Given the description of an element on the screen output the (x, y) to click on. 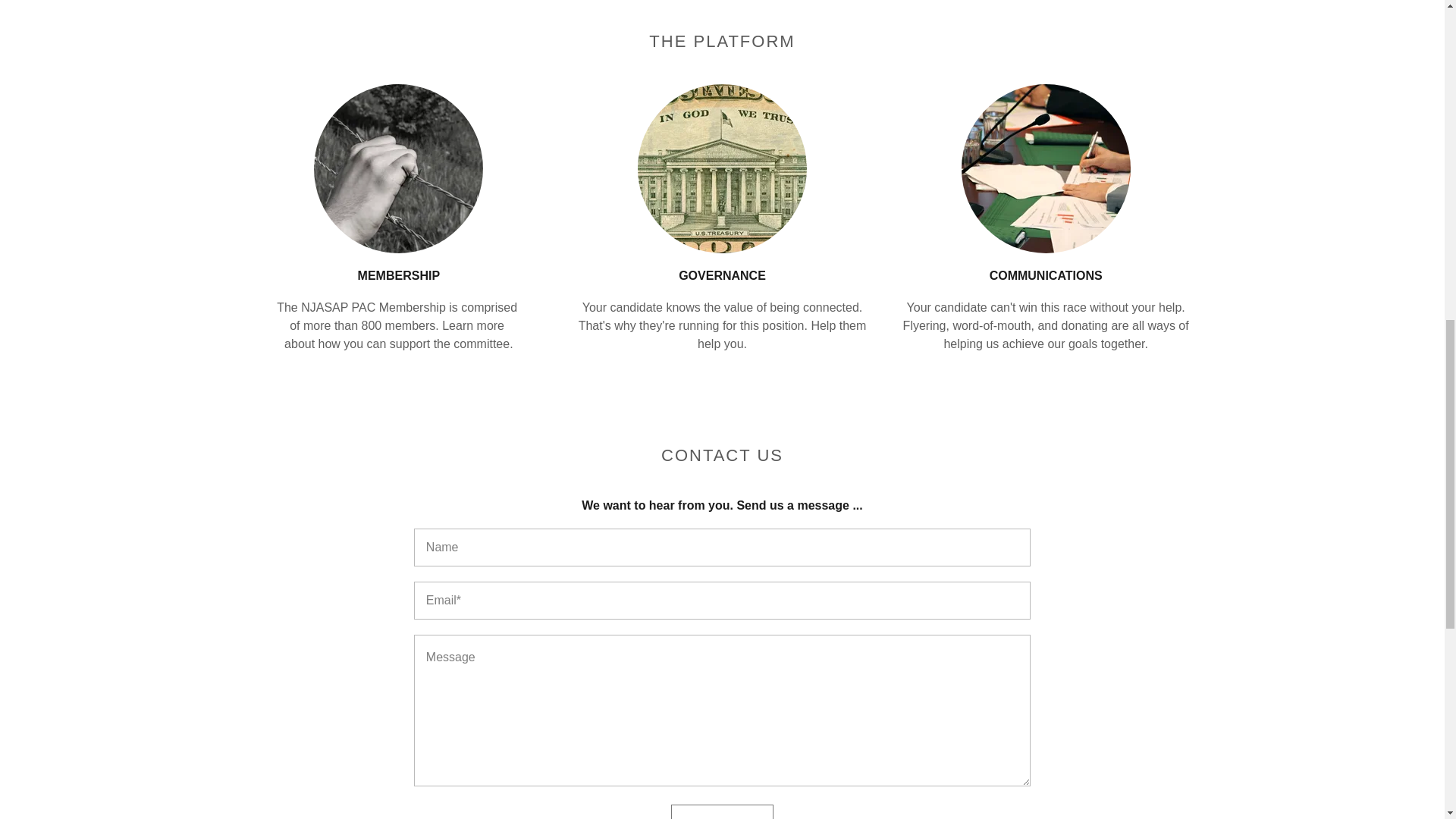
SEND (722, 811)
